Given the description of an element on the screen output the (x, y) to click on. 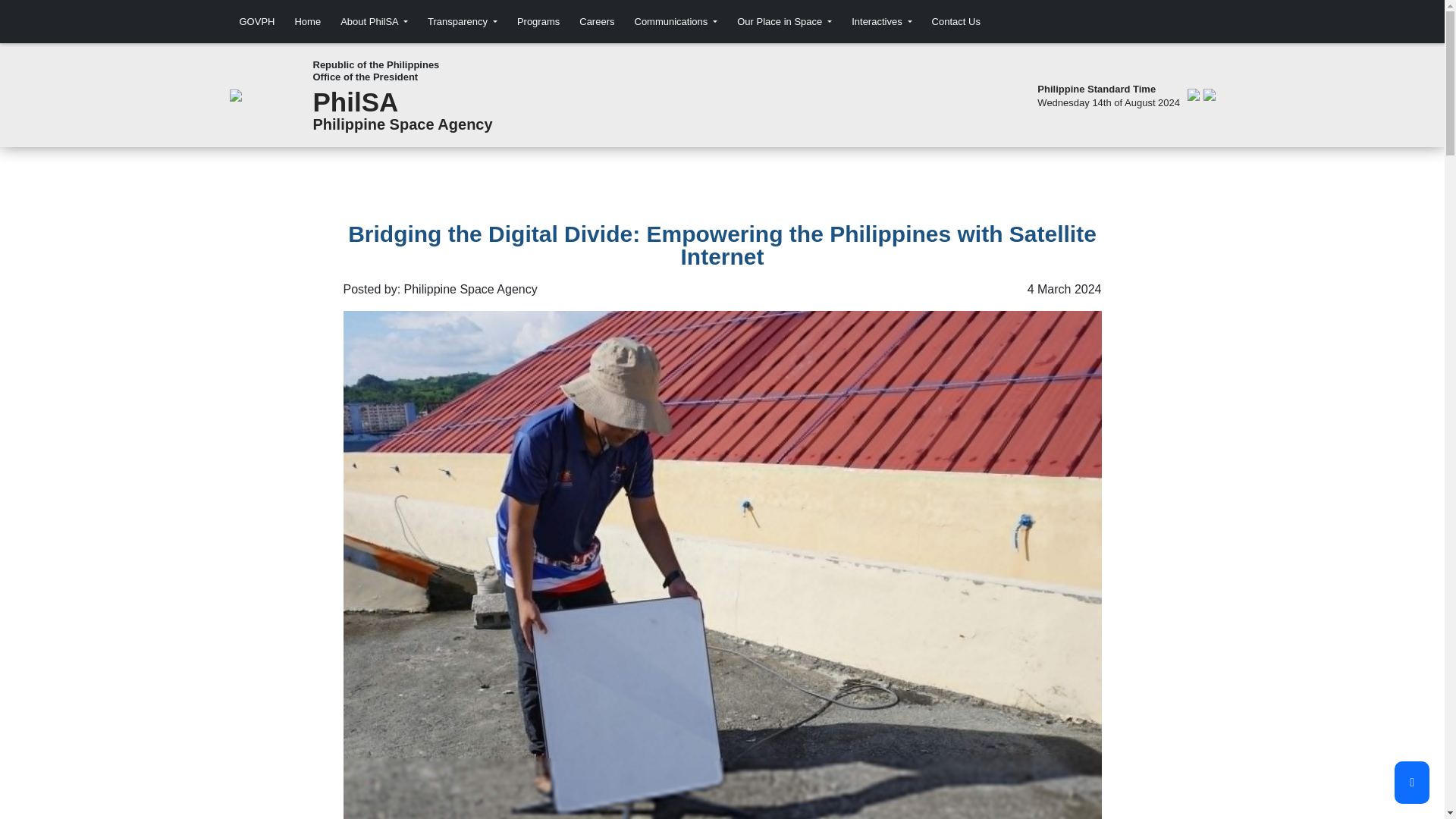
GOVPH (256, 21)
Programs (538, 21)
Careers (596, 21)
About PhilSA (373, 21)
Home (307, 21)
Transparency (462, 21)
Our Place in Space (784, 21)
Communications (675, 21)
